Given the description of an element on the screen output the (x, y) to click on. 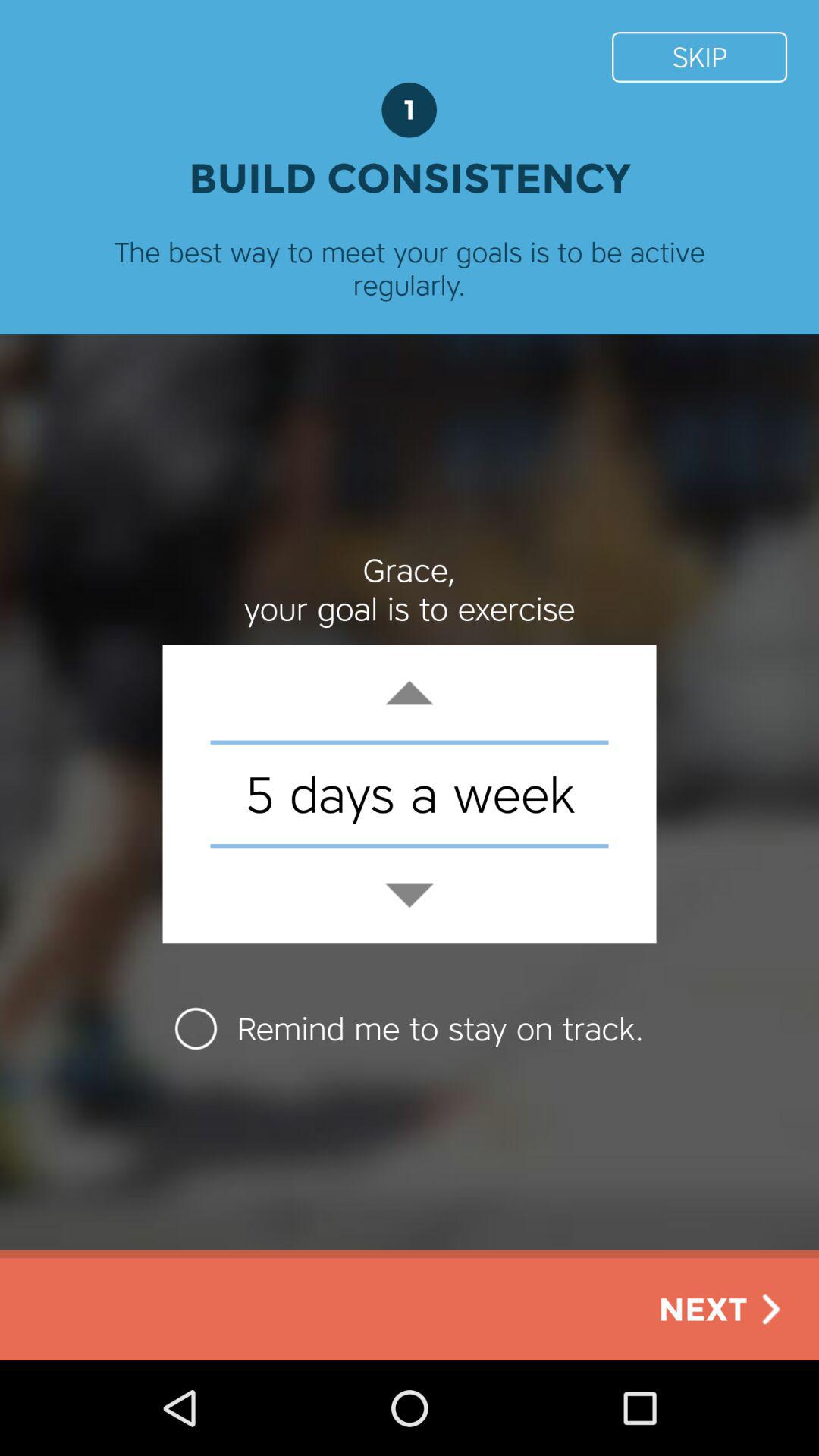
tap icon to the right of 1 (699, 56)
